Given the description of an element on the screen output the (x, y) to click on. 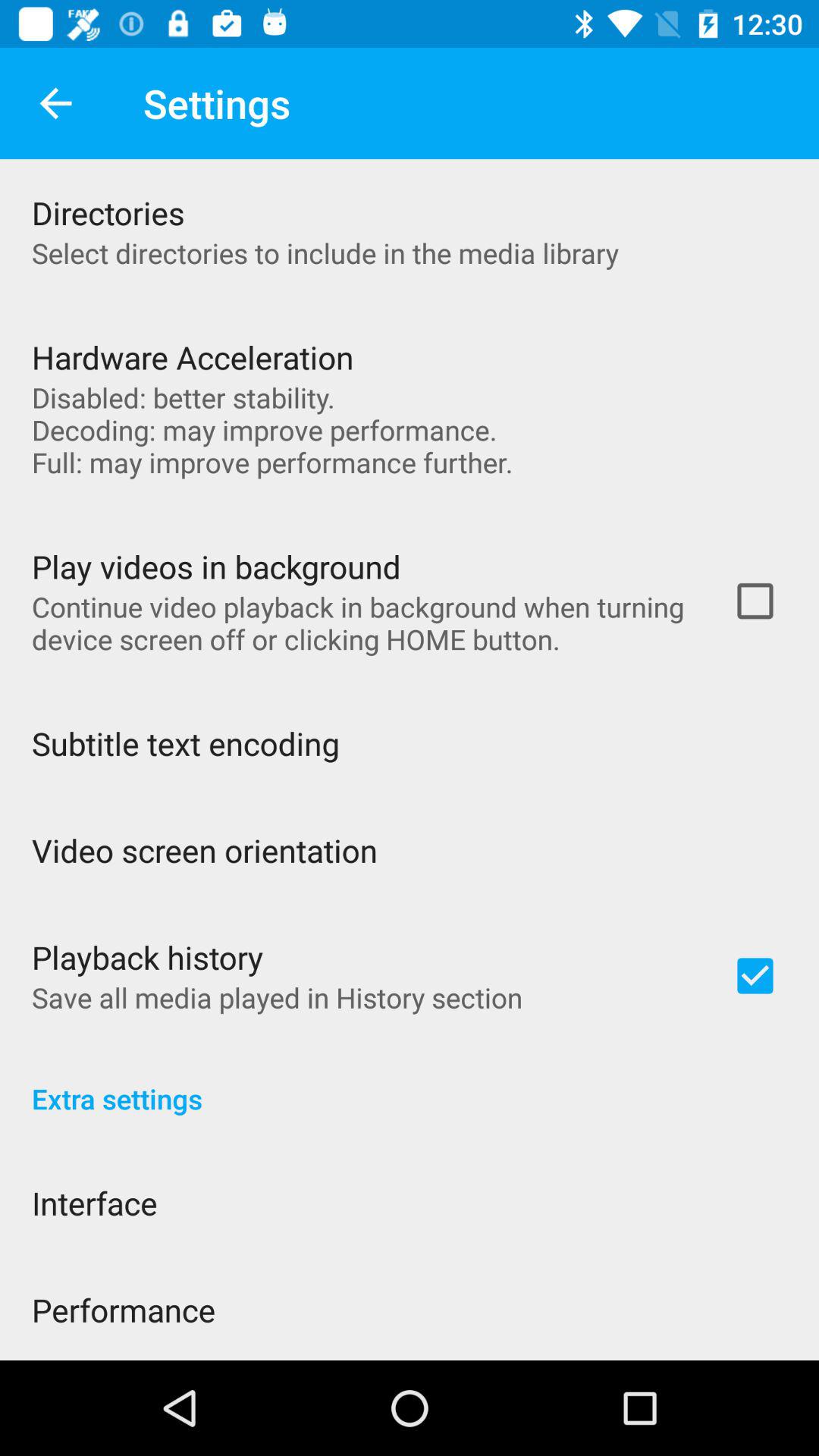
click item above the interface icon (409, 1082)
